Given the description of an element on the screen output the (x, y) to click on. 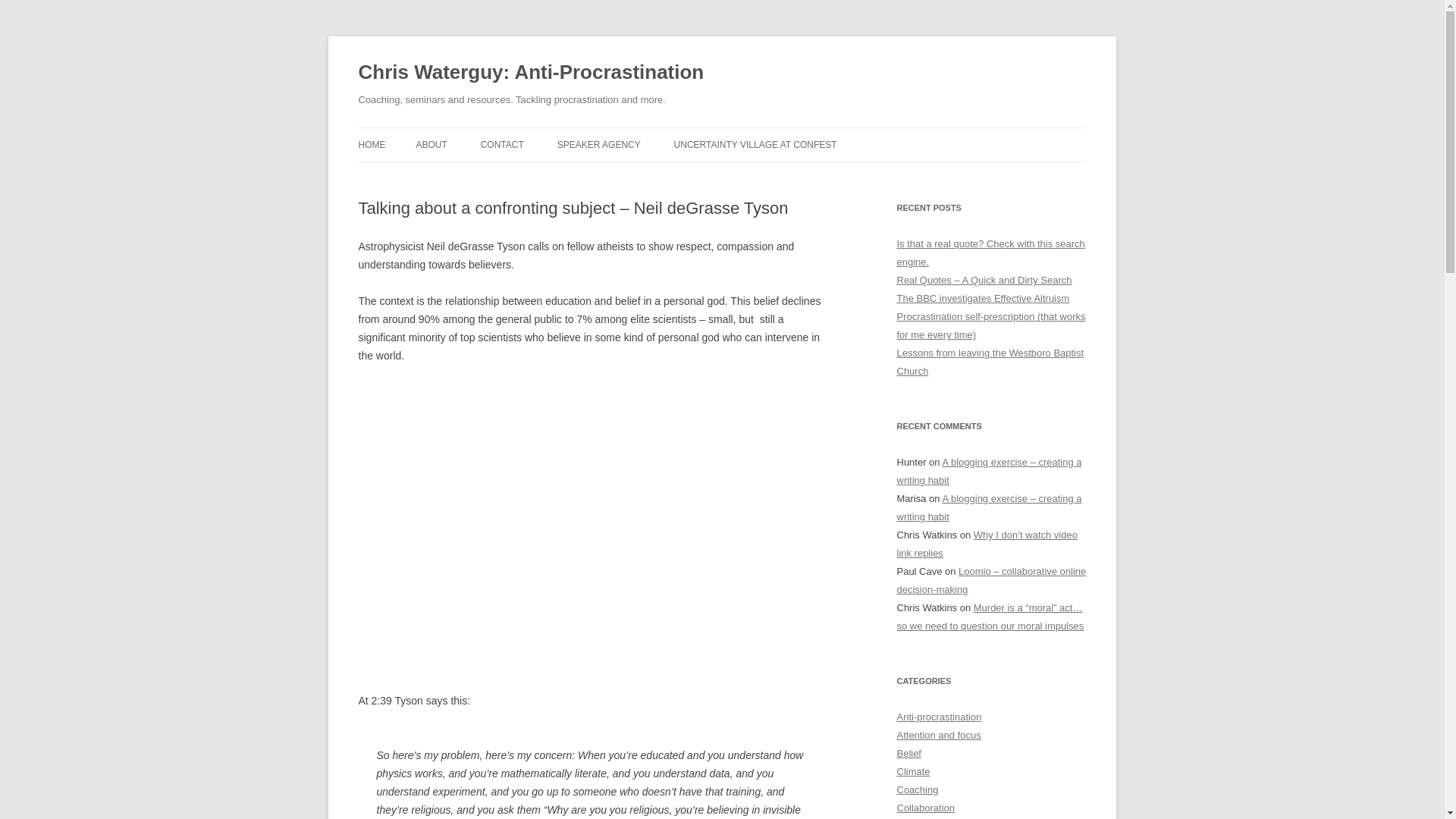
Belief (908, 753)
Anti-procrastination (938, 716)
Chris Waterguy: Anti-Procrastination (530, 72)
CONTACT (502, 144)
The BBC investigates Effective Altruism (982, 297)
ABOUT (430, 144)
Climate (913, 771)
Attention and focus (937, 735)
Coaching (916, 789)
SPEAKER AGENCY (598, 144)
